Given the description of an element on the screen output the (x, y) to click on. 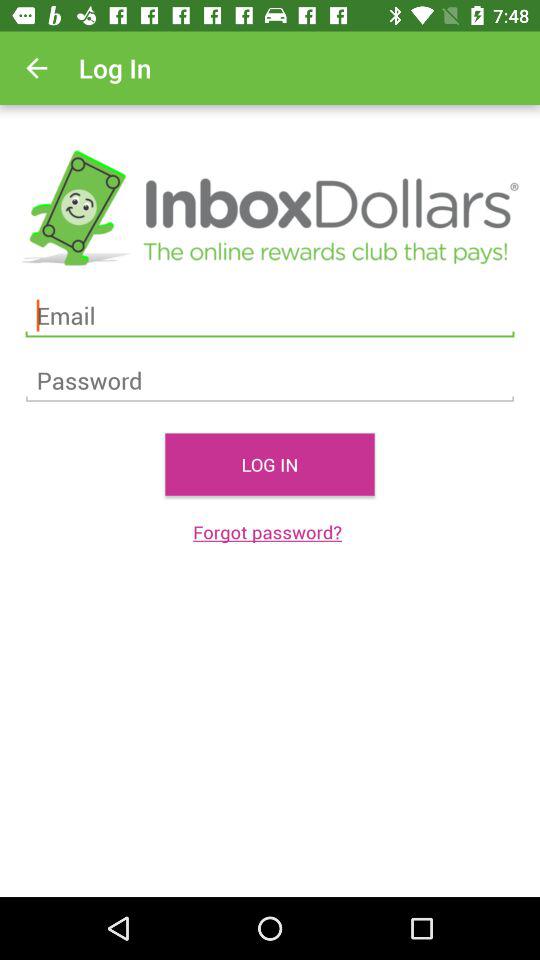
open the item below log in icon (269, 532)
